Given the description of an element on the screen output the (x, y) to click on. 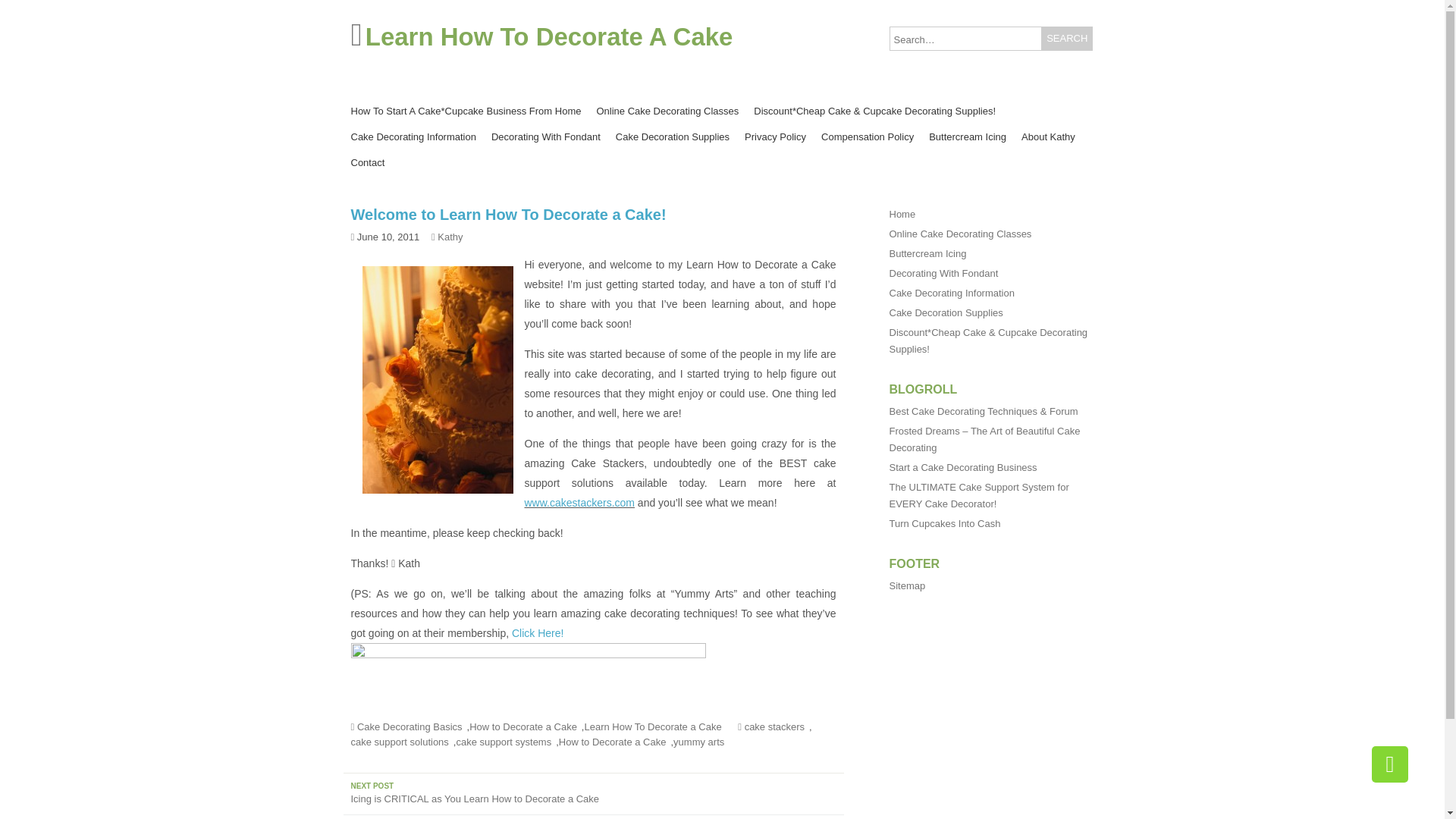
How to Decorate a Cake (615, 742)
Kathy (451, 237)
Learn How To Decorate A Cake (549, 36)
Search (1067, 38)
www.cakestackers.com (579, 502)
Cake Decorating Basics (411, 726)
About Kathy (1048, 136)
Contact (366, 162)
Search (1067, 38)
Search (1067, 38)
